Given the description of an element on the screen output the (x, y) to click on. 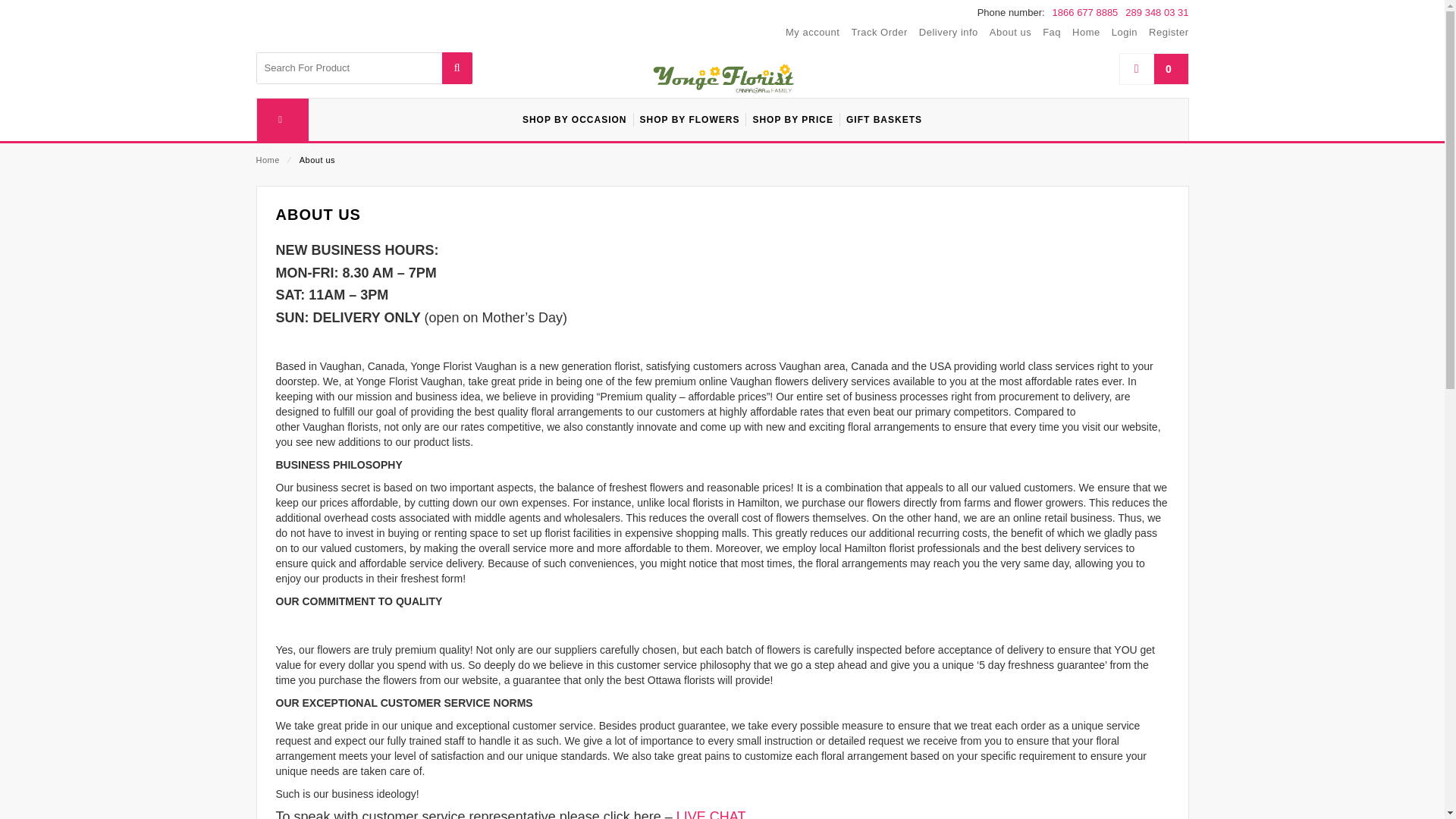
1866 677 8885 (1085, 12)
Login (1124, 33)
SHOP BY OCCASION (574, 119)
GIFT BASKETS (884, 119)
SHOP BY PRICE (792, 119)
289 348 03 31 (1156, 12)
Faq (1051, 33)
Home (267, 159)
Delivery info (948, 33)
Track Order (878, 33)
0 (1153, 69)
My account (813, 33)
Yonge Florist Vaughan (721, 77)
Home (1085, 33)
